Given the description of an element on the screen output the (x, y) to click on. 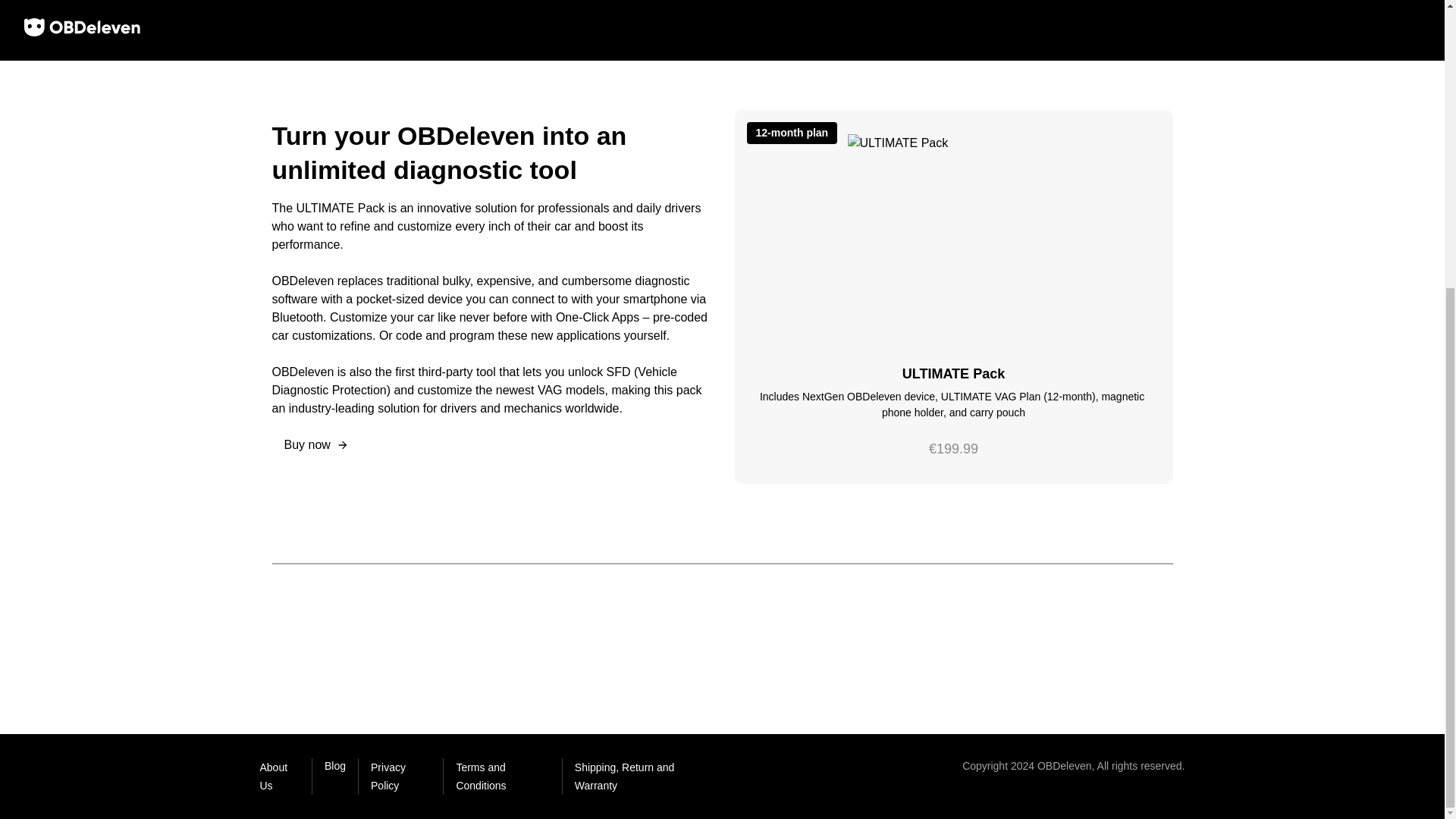
Blog (335, 776)
Technical FAQ (934, 25)
Buy now (314, 445)
Privacy Policy (400, 776)
Shipping, Return and Warranty (641, 776)
About Us (278, 776)
Terms and Conditions (501, 776)
